Given the description of an element on the screen output the (x, y) to click on. 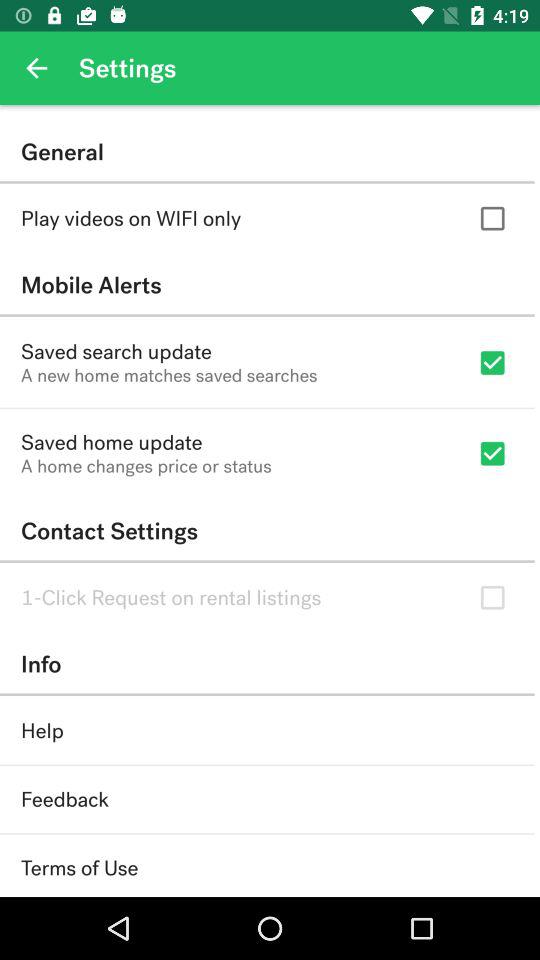
launch icon above info item (171, 597)
